Given the description of an element on the screen output the (x, y) to click on. 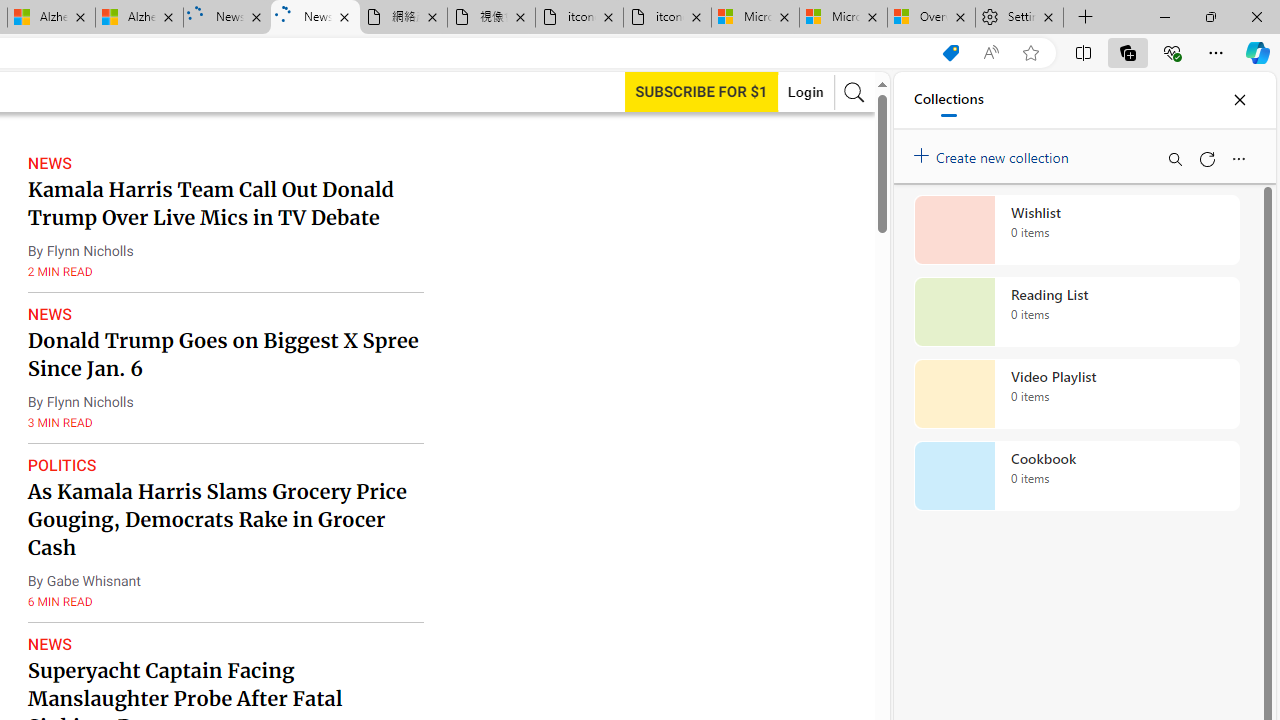
Newsweek - News, Analysis, Politics, Business, Technology (315, 17)
Donald Trump Goes on Biggest X Spree Since Jan. 6 (222, 354)
Subscribe to our service (701, 91)
More options menu (1238, 158)
Create new collection (994, 153)
Wishlist collection, 0 items (1076, 229)
Cookbook collection, 0 items (1076, 475)
